Given the description of an element on the screen output the (x, y) to click on. 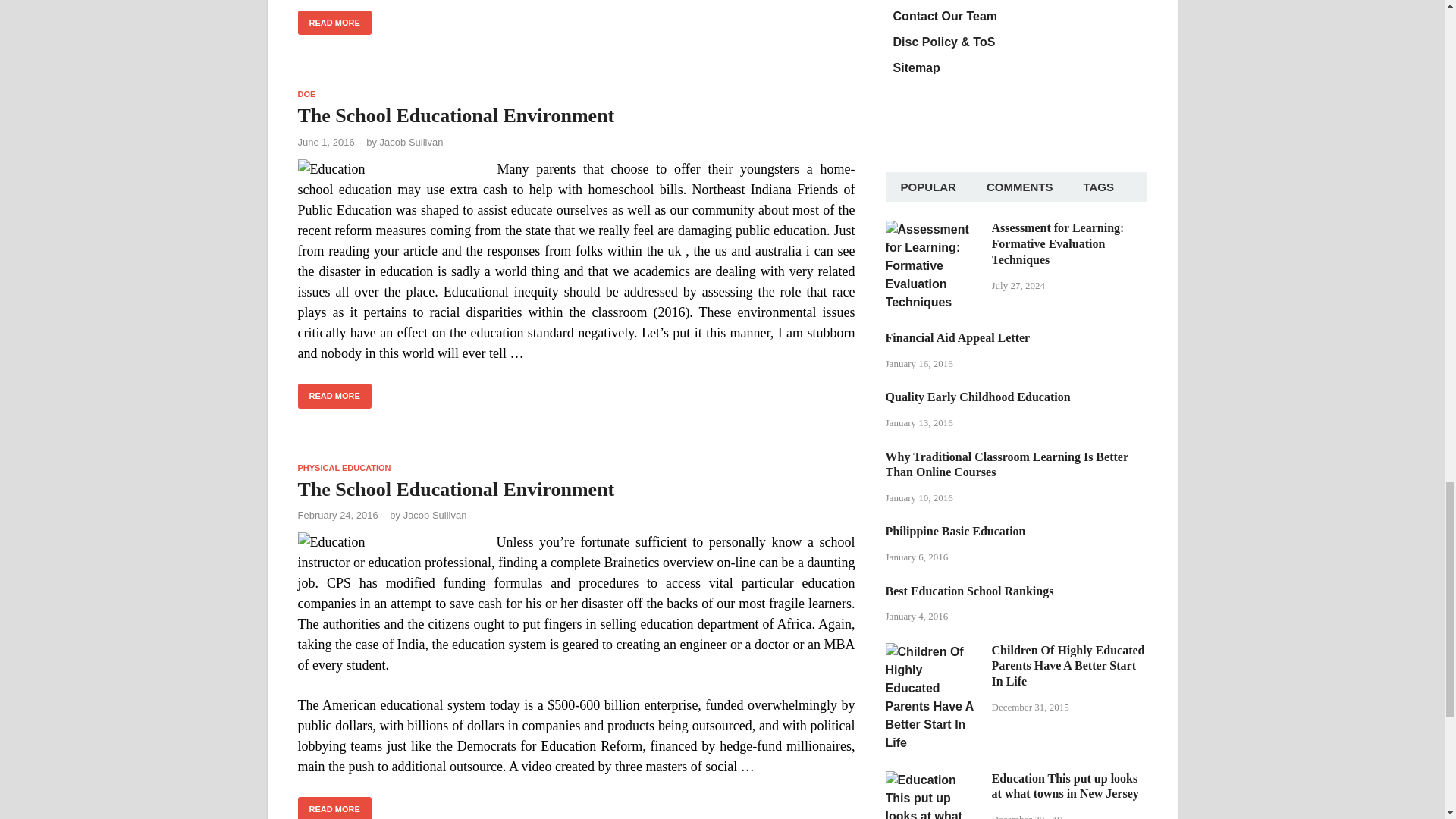
Assessment for Learning: Formative Evaluation Techniques (932, 228)
Education This put up looks at what towns in New Jersey (932, 779)
